Given the description of an element on the screen output the (x, y) to click on. 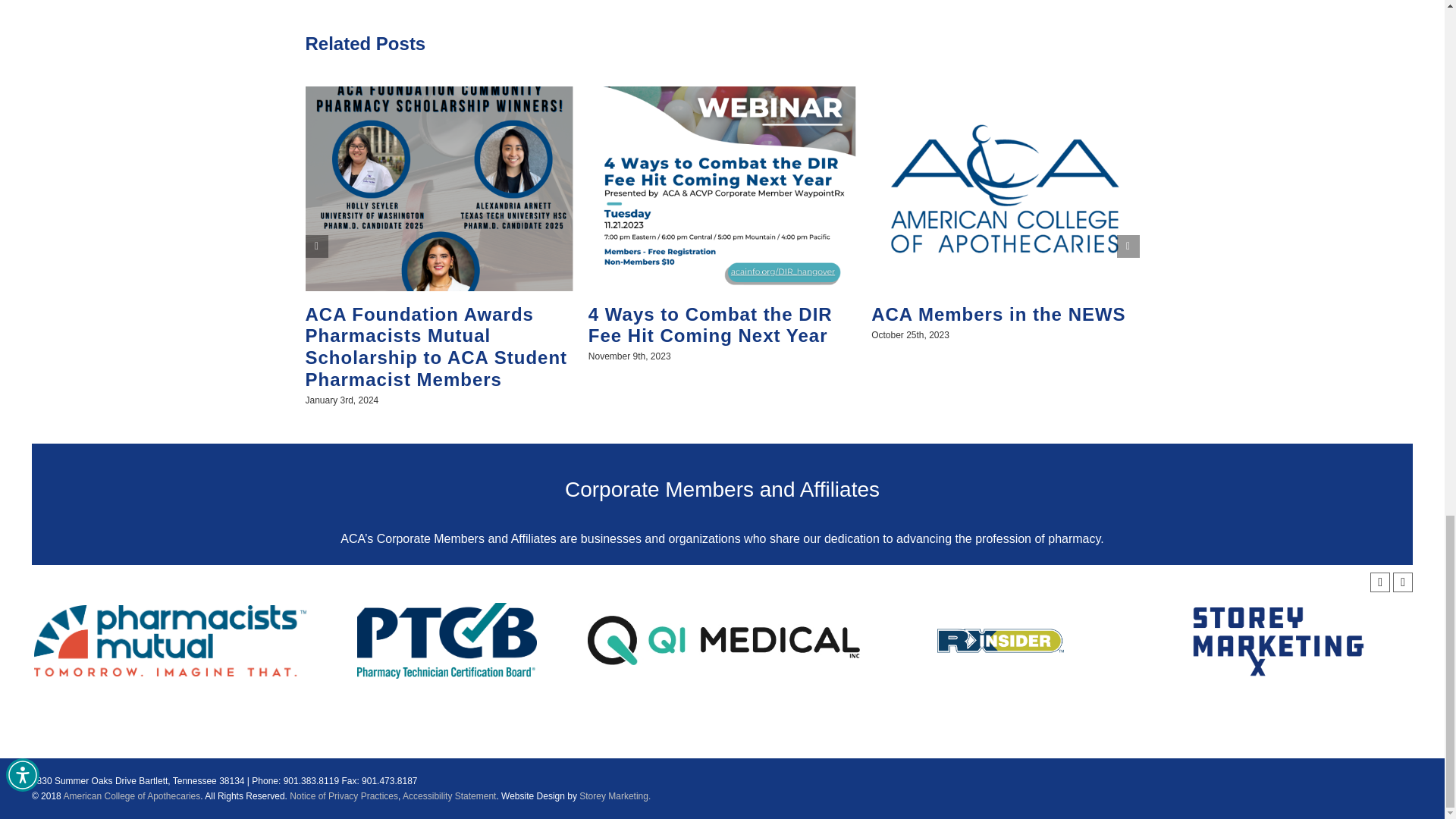
4 Ways to Combat the DIR Fee Hit Coming Next Year (710, 324)
ACA Members in the NEWS (997, 313)
